Given the description of an element on the screen output the (x, y) to click on. 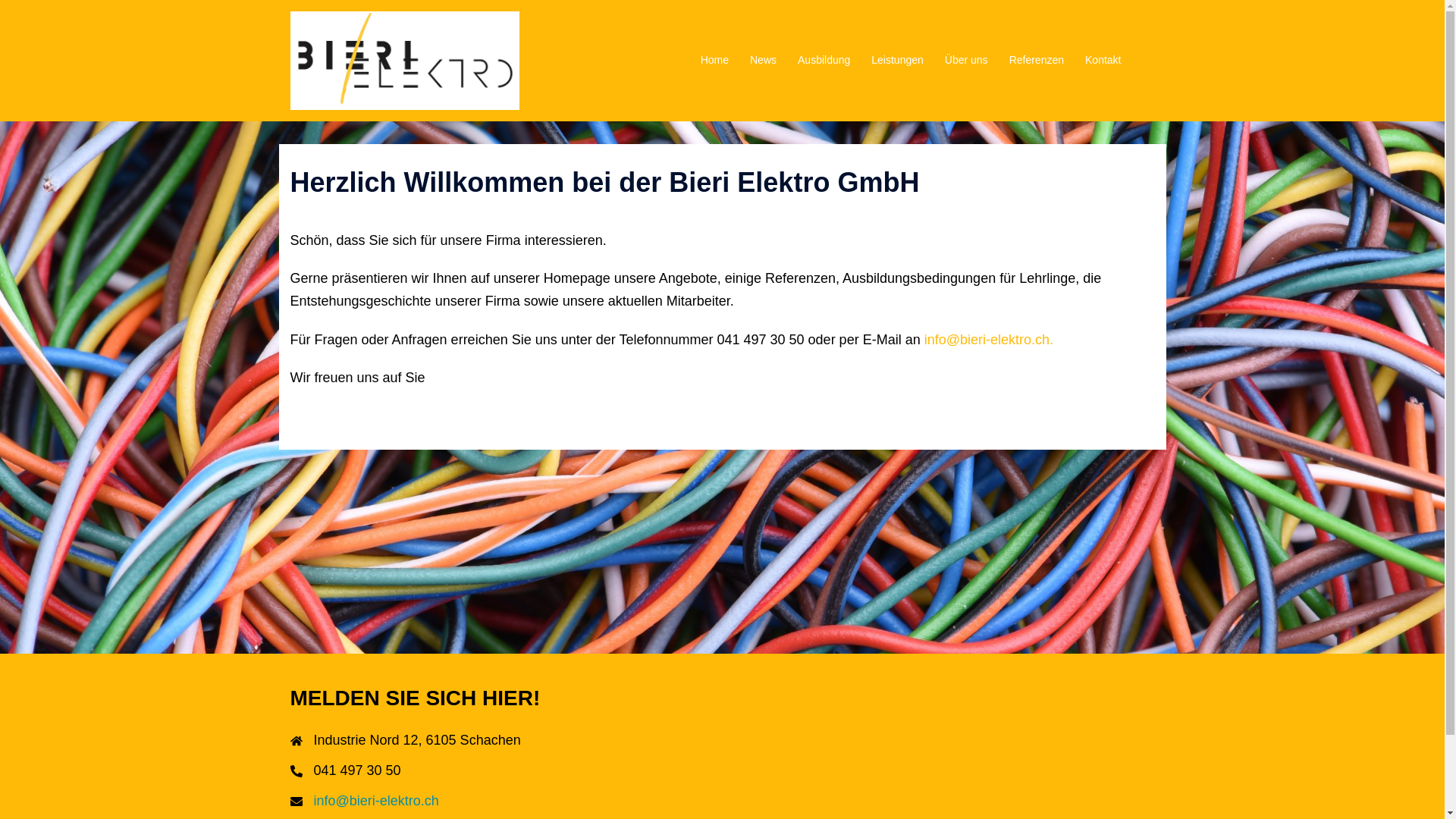
Home Element type: text (714, 60)
Kontakt Element type: text (1102, 60)
Leistungen Element type: text (897, 60)
Ausbildung Element type: text (823, 60)
info@bieri-elektro.ch Element type: text (376, 800)
info@bieri-elektro.ch. Element type: text (988, 339)
Referenzen Element type: text (1036, 60)
News Element type: text (762, 60)
Bieri-Elektro Element type: hover (404, 59)
